Given the description of an element on the screen output the (x, y) to click on. 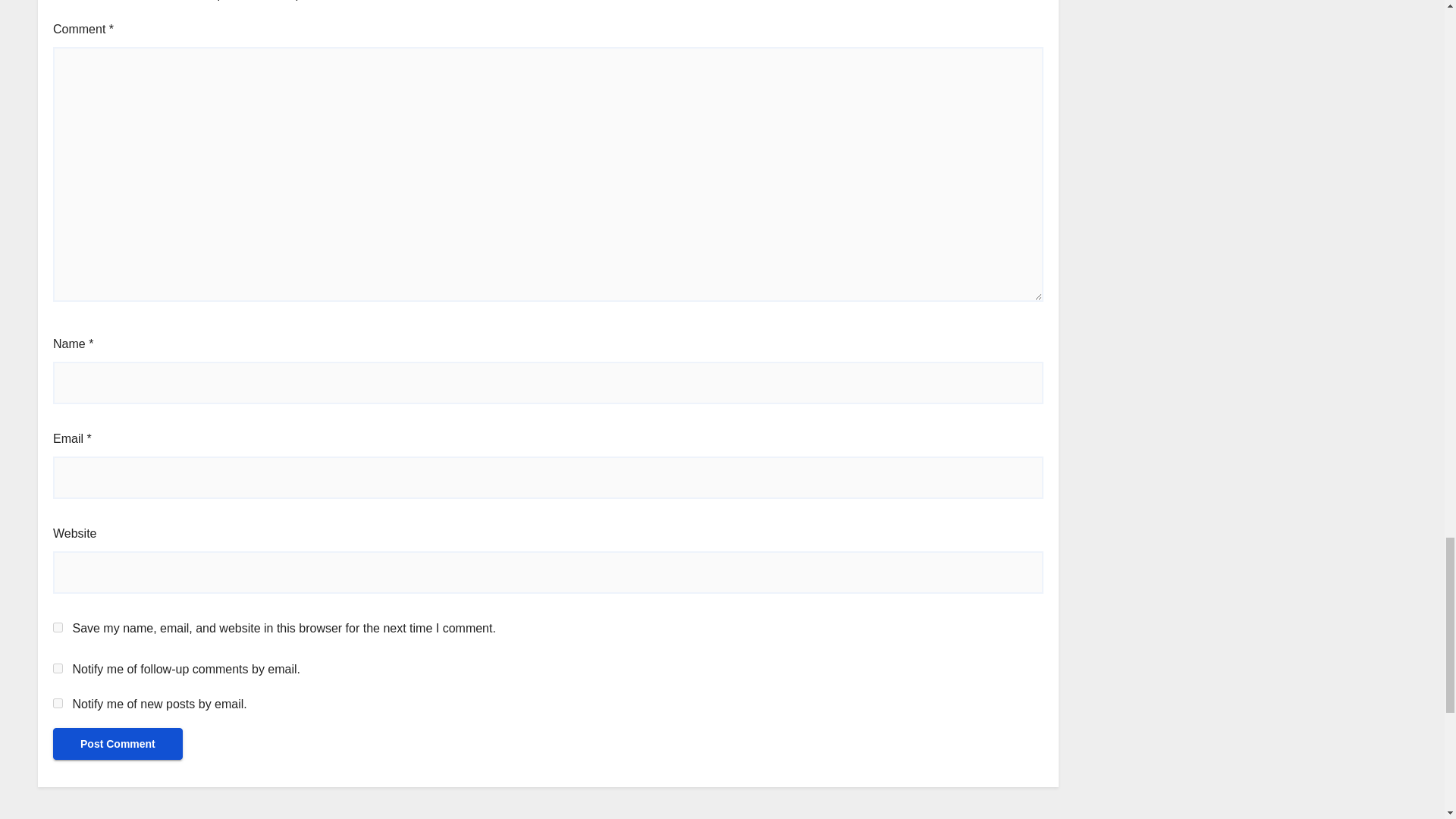
subscribe (57, 667)
yes (57, 626)
Post Comment (117, 744)
subscribe (57, 702)
